Given the description of an element on the screen output the (x, y) to click on. 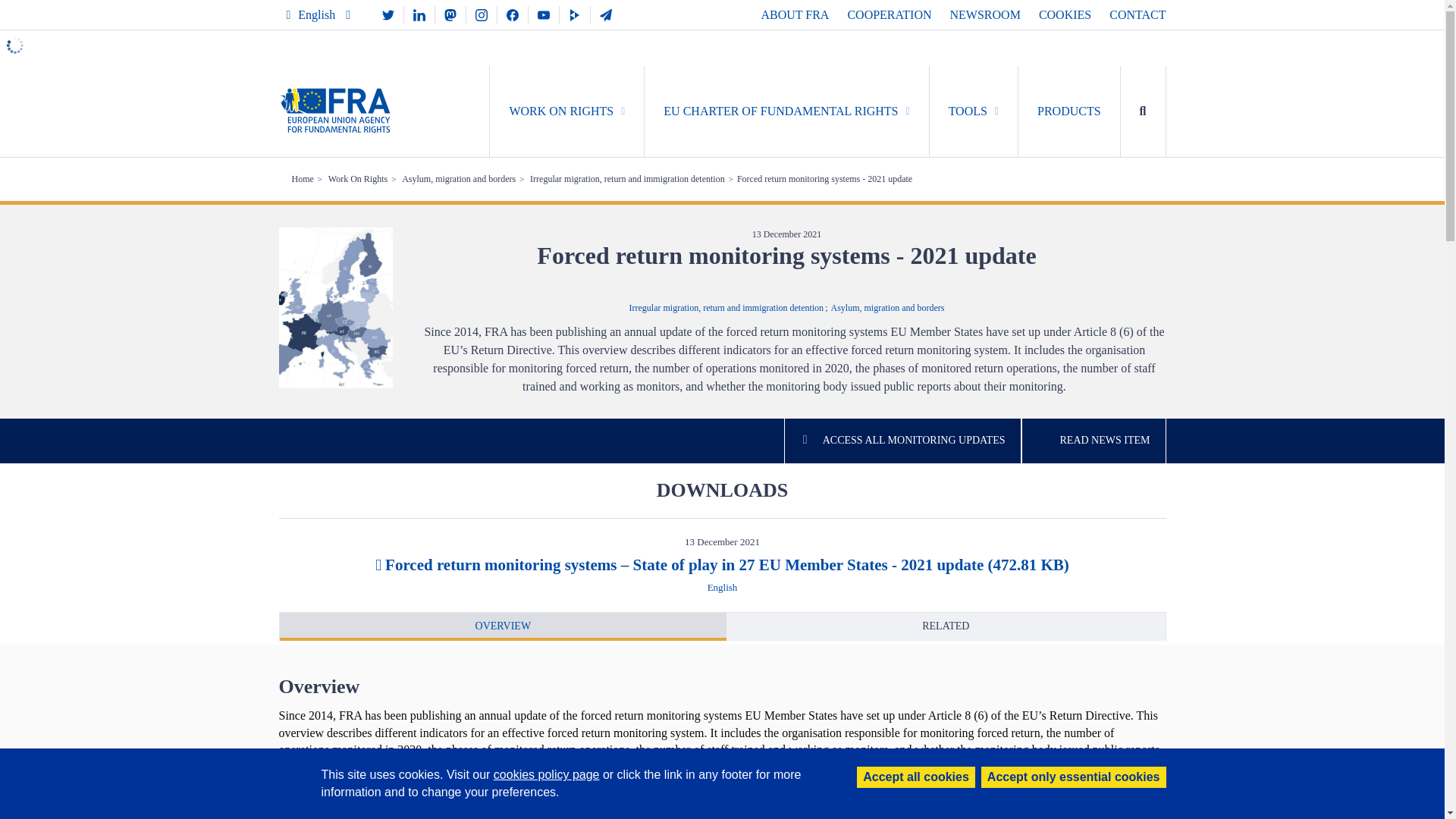
CONTACT (1137, 14)
cookies policy page (546, 774)
Newsletter (606, 13)
NEWSROOM (985, 14)
COOPERATION (889, 14)
FRA's PeerTube channel (574, 13)
PeerTube (574, 13)
LinkedIn (418, 13)
Facebook (512, 13)
Twitter (387, 13)
